Given the description of an element on the screen output the (x, y) to click on. 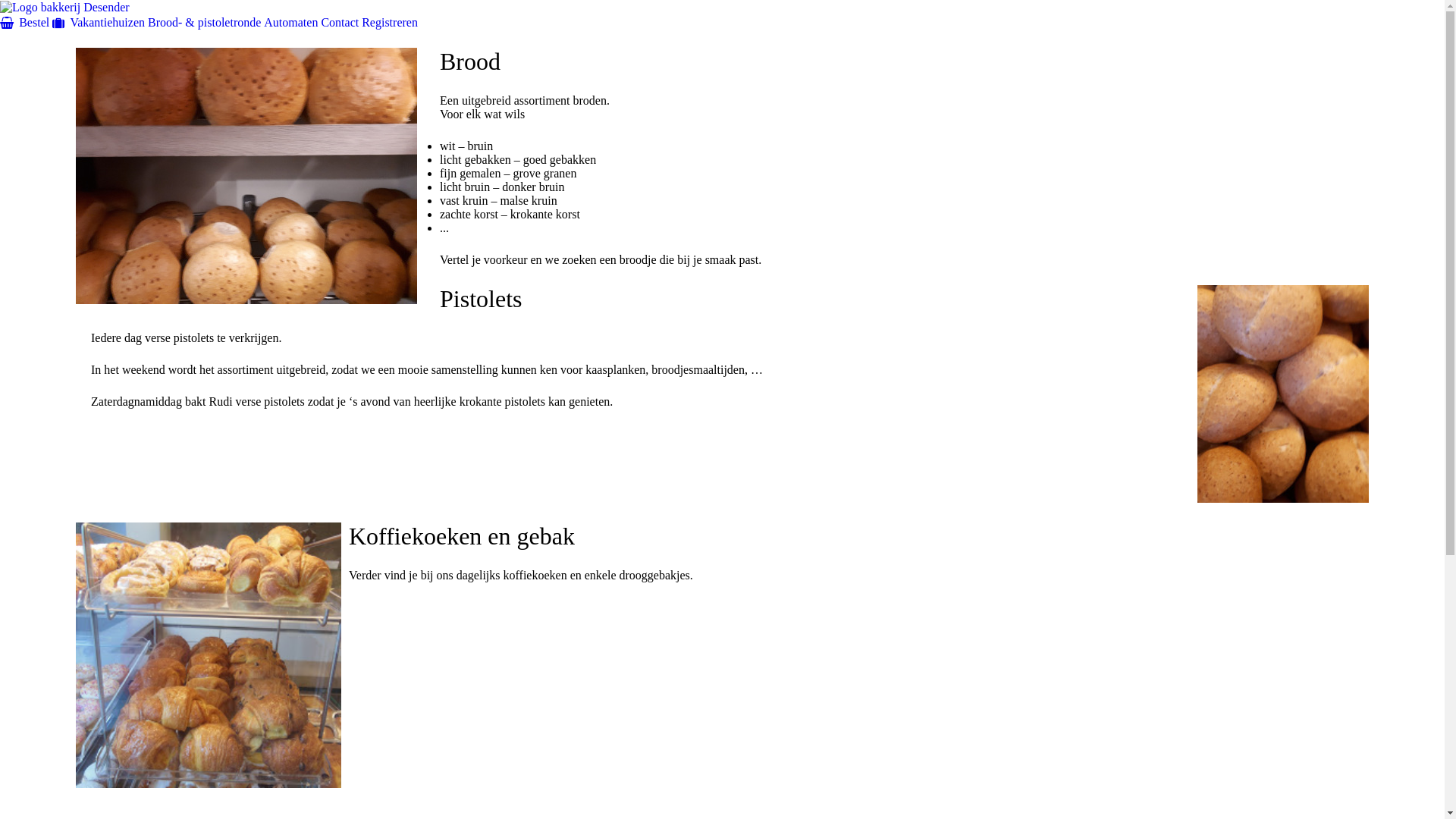
Brood- & pistoletronde Element type: text (203, 21)
Logo bakkerij Desender Element type: hover (64, 6)
Contact Element type: text (339, 21)
Bestel Element type: text (24, 21)
Automaten Element type: text (290, 21)
Registreren Element type: text (389, 21)
Vakantiehuizen Element type: text (98, 21)
